Given the description of an element on the screen output the (x, y) to click on. 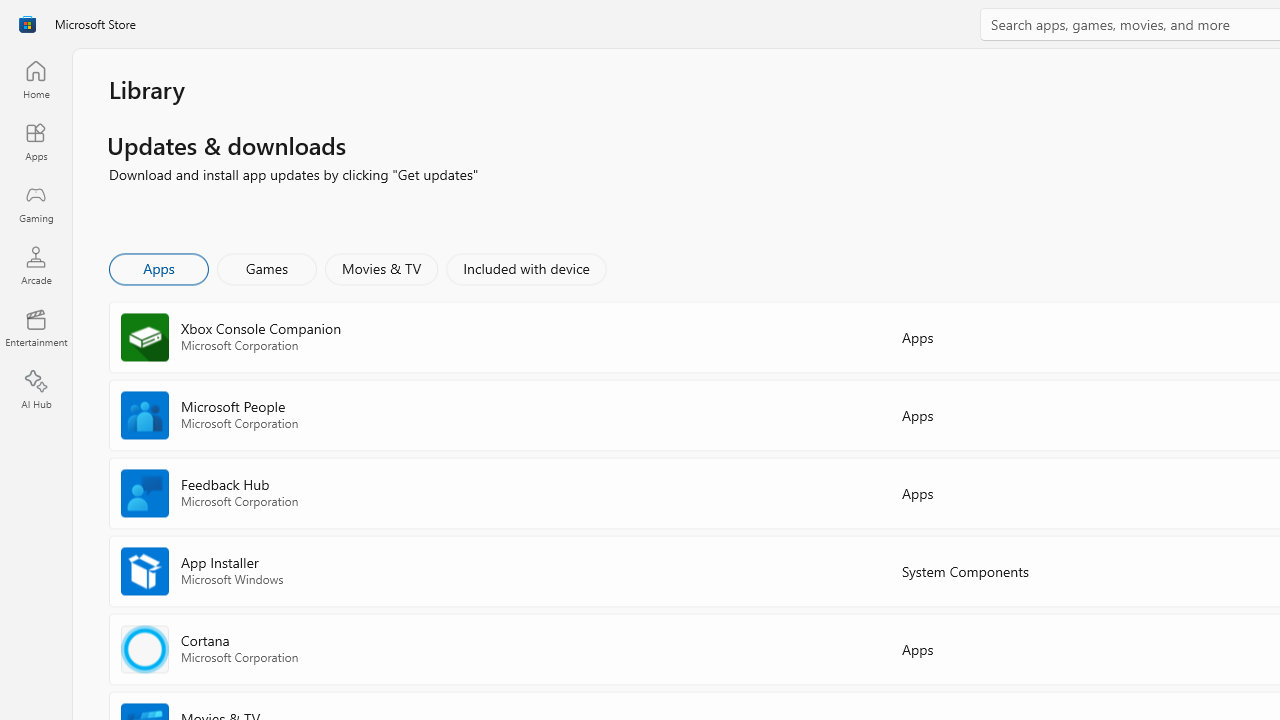
Games (267, 268)
Movies & TV (381, 268)
Included with device (525, 268)
